Given the description of an element on the screen output the (x, y) to click on. 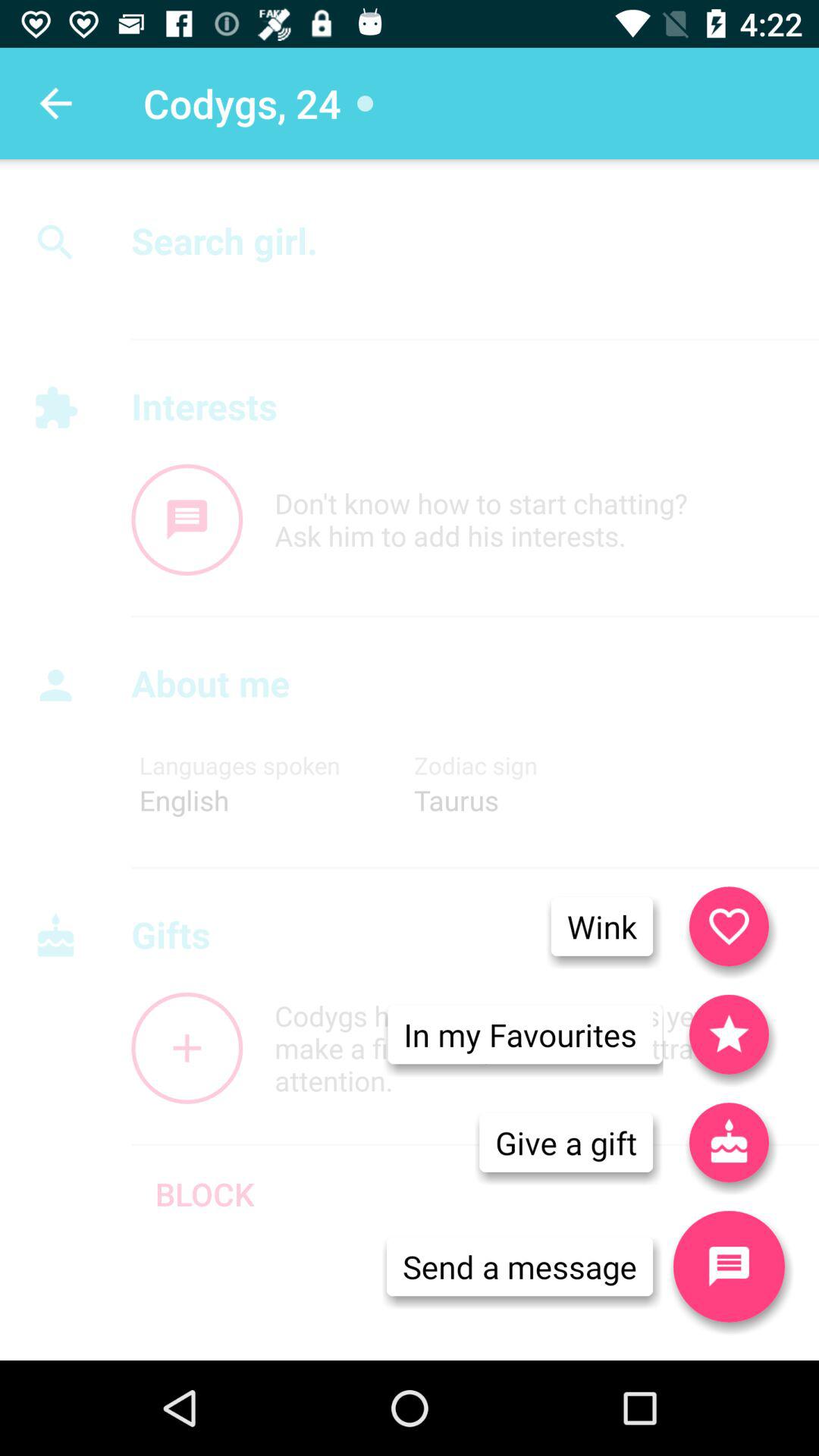
turn off item next to codygs, 24 item (55, 103)
